Given the description of an element on the screen output the (x, y) to click on. 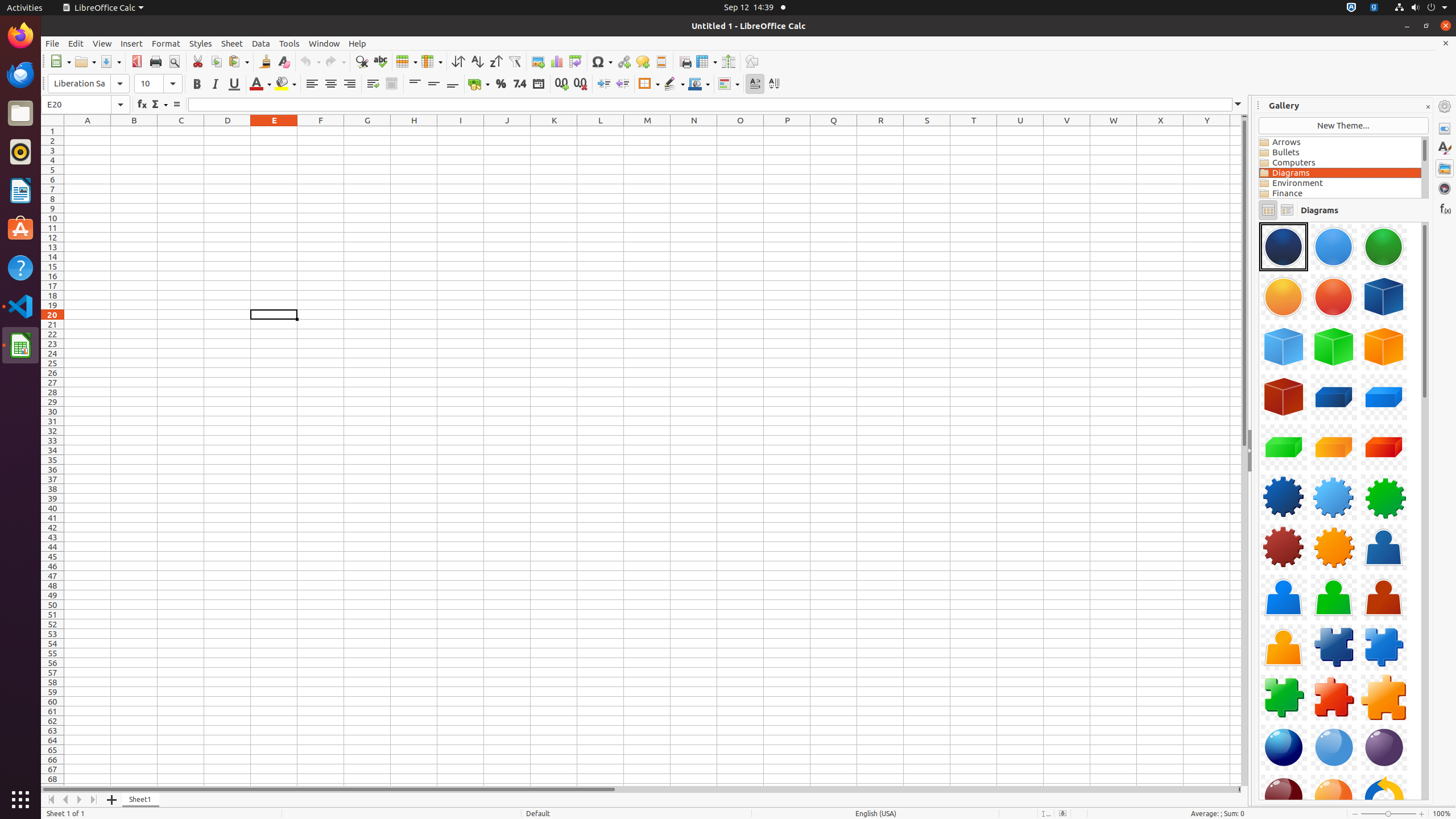
Component-Circle04-Transparent-Orange Element type: list-item (1283, 296)
Component-Person05-Orange Element type: list-item (1283, 646)
Sheet Element type: menu (231, 43)
Open Element type: push-button (84, 61)
Component-Cuboid05-Red Element type: list-item (1383, 446)
